Given the description of an element on the screen output the (x, y) to click on. 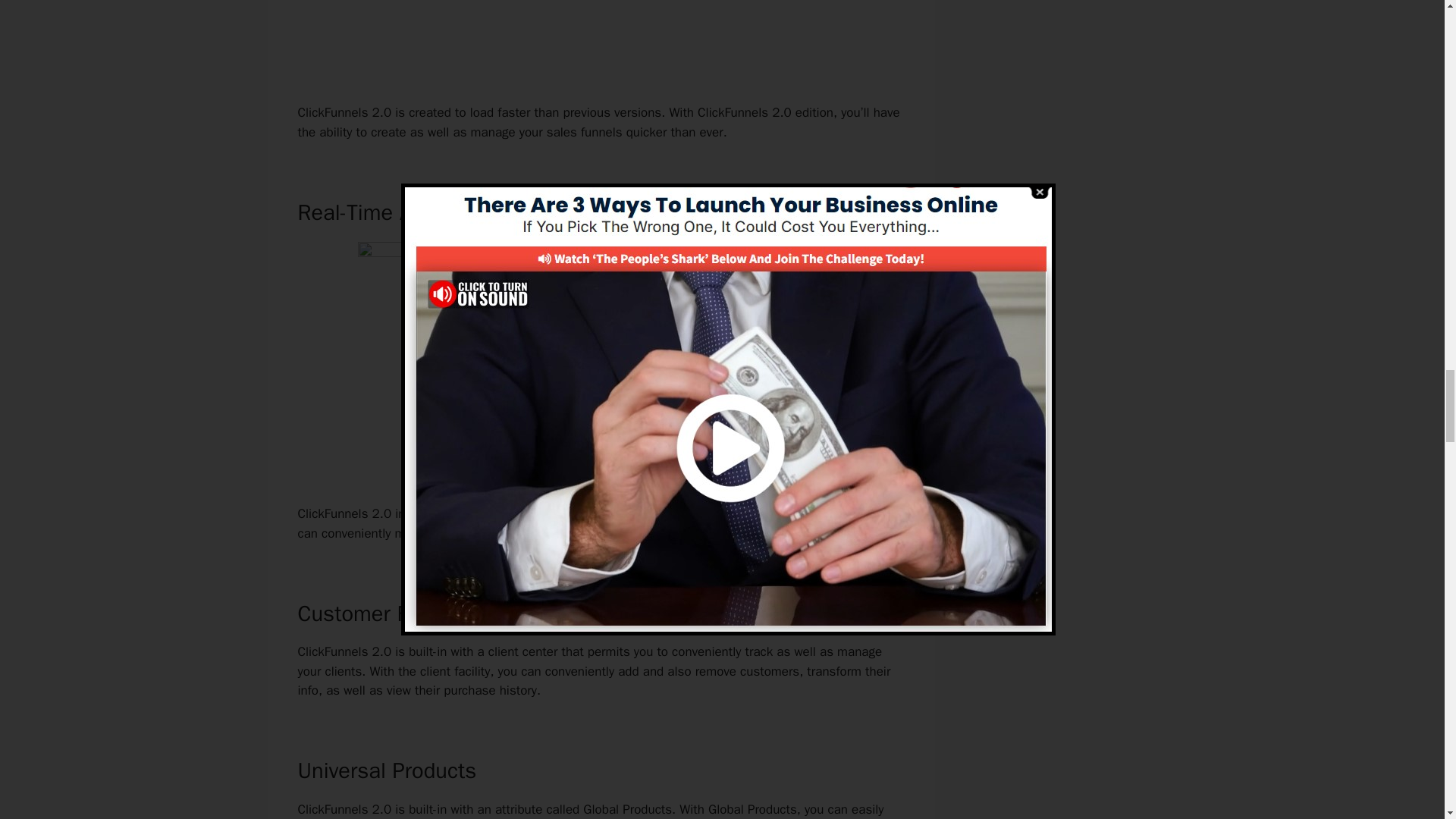
Stats (733, 513)
